Given the description of an element on the screen output the (x, y) to click on. 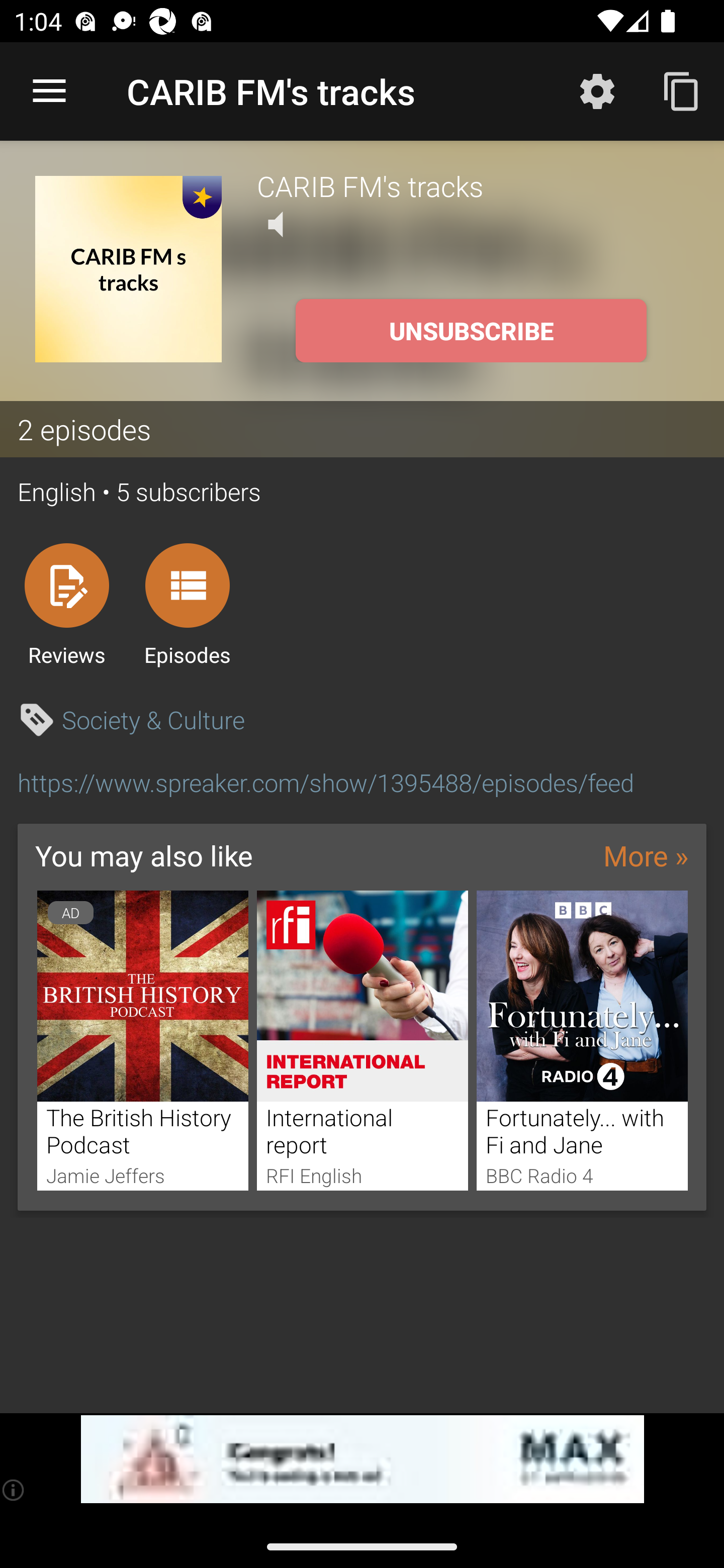
Open navigation sidebar (49, 91)
Settings (597, 90)
Copy feed url to clipboard (681, 90)
CARIB FM's tracks (472, 185)
UNSUBSCRIBE (470, 330)
Reviews (66, 604)
Episodes (187, 604)
More » (645, 854)
AD The British History Podcast Jamie Jeffers (142, 1040)
International report RFI English (362, 1040)
Fortunately... with Fi and Jane BBC Radio 4 (581, 1040)
app-monetization (362, 1459)
(i) (14, 1489)
